Given the description of an element on the screen output the (x, y) to click on. 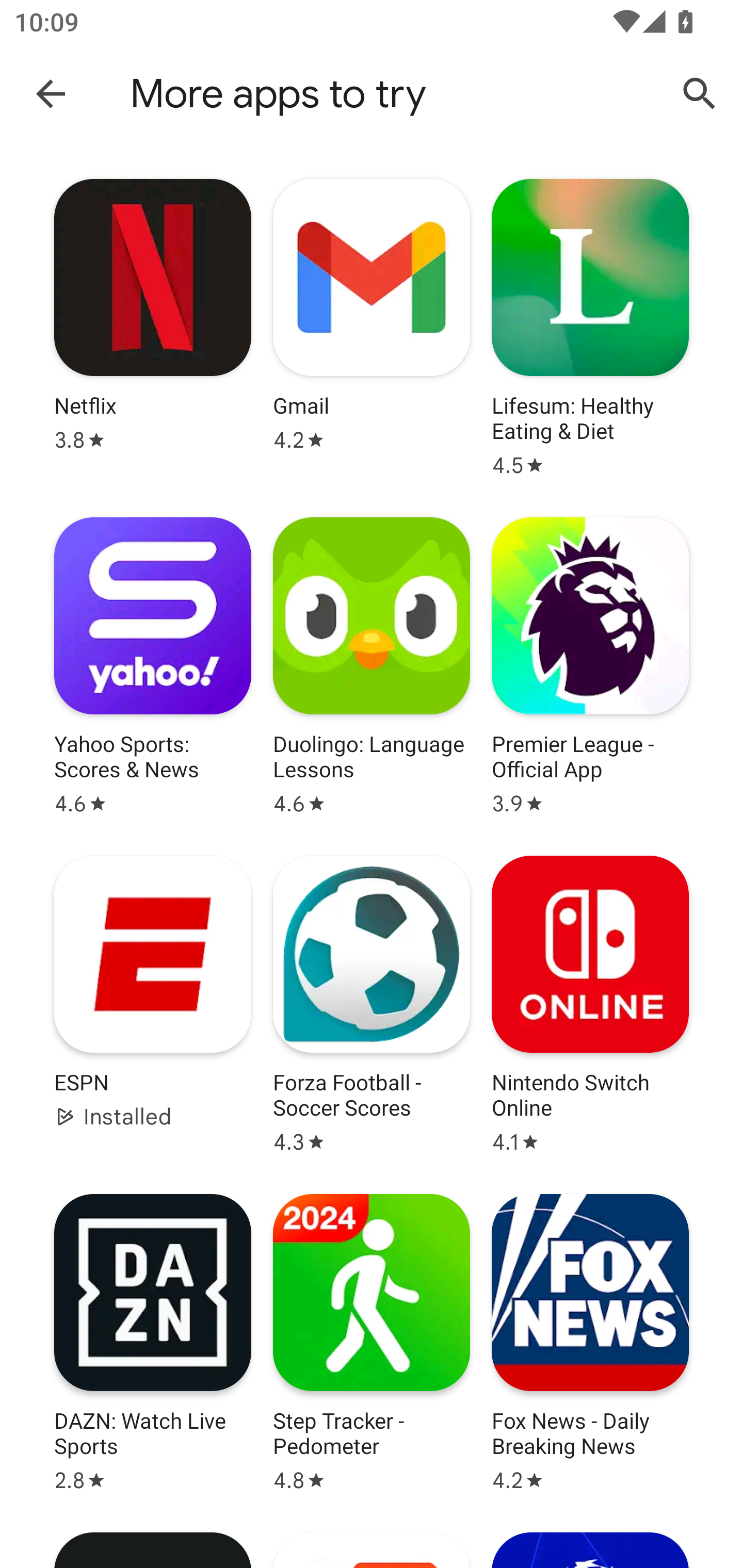
Navigate up (50, 92)
Search Google Play (699, 93)
App: Netflix
Star rating: 3.8


 (152, 328)
App: Gmail
Star rating: 4.2


 (371, 328)
App: ESPN
Installed

 (152, 1003)
App: Nintendo Switch Online
Star rating: 4.1


 (589, 1003)
App: DAZN: Watch Live Sports
Star rating: 2.8


 (152, 1342)
App: Step Tracker - Pedometer
Star rating: 4.8


 (371, 1342)
